Given the description of an element on the screen output the (x, y) to click on. 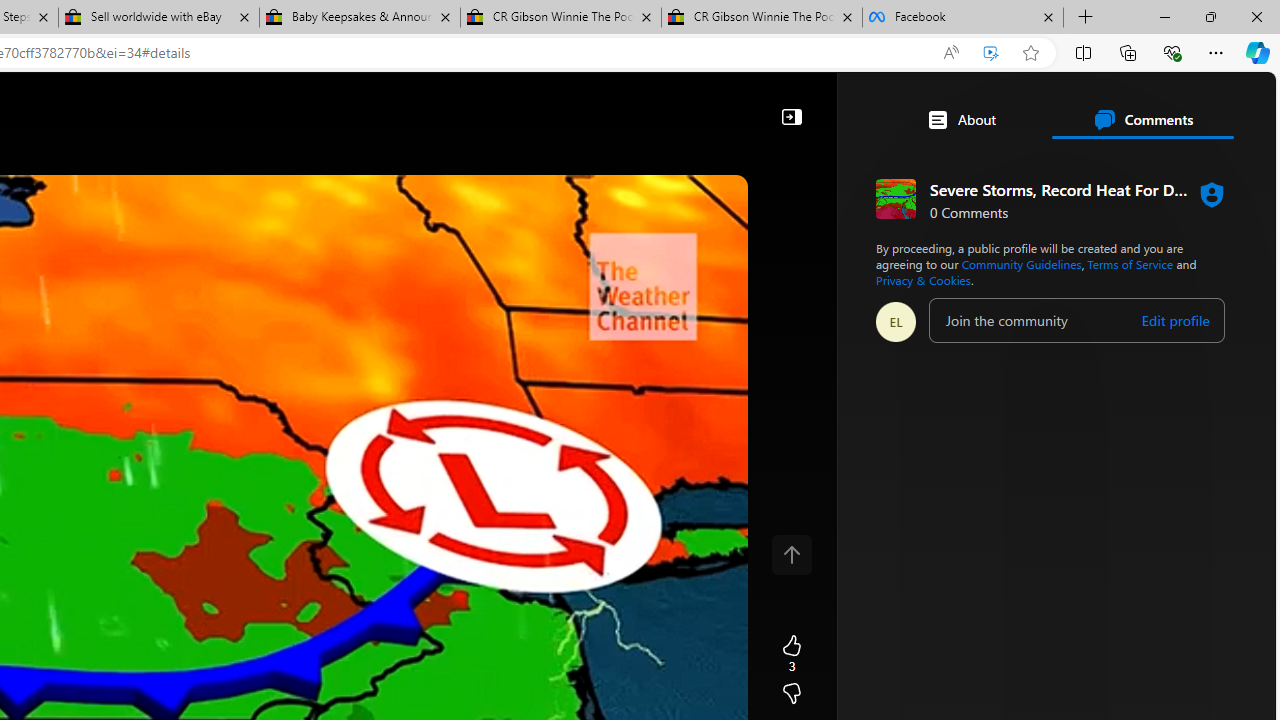
comment-box (1076, 320)
Edit profile (1174, 321)
3 Like (791, 653)
